Given the description of an element on the screen output the (x, y) to click on. 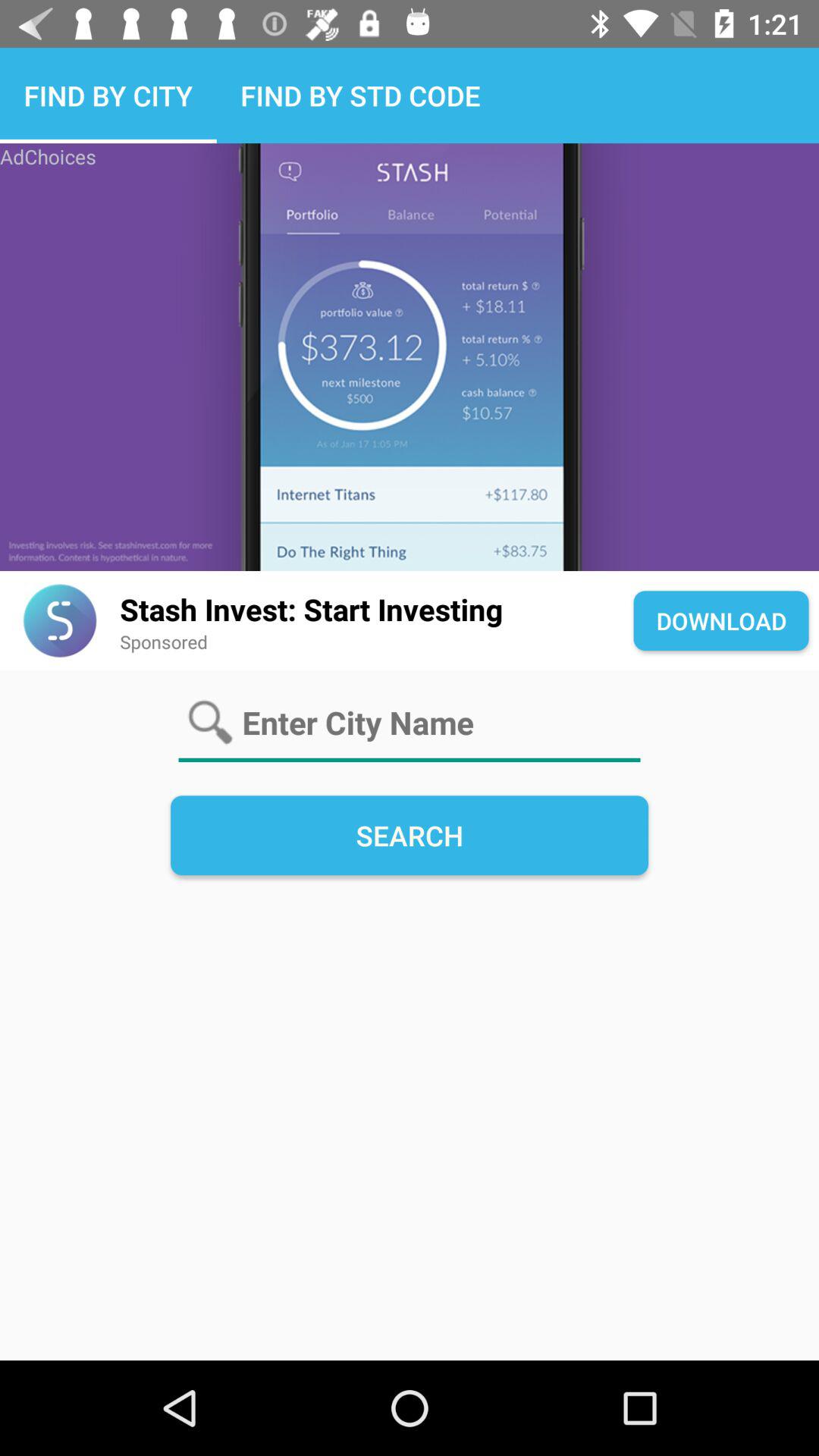
app icon (59, 620)
